Given the description of an element on the screen output the (x, y) to click on. 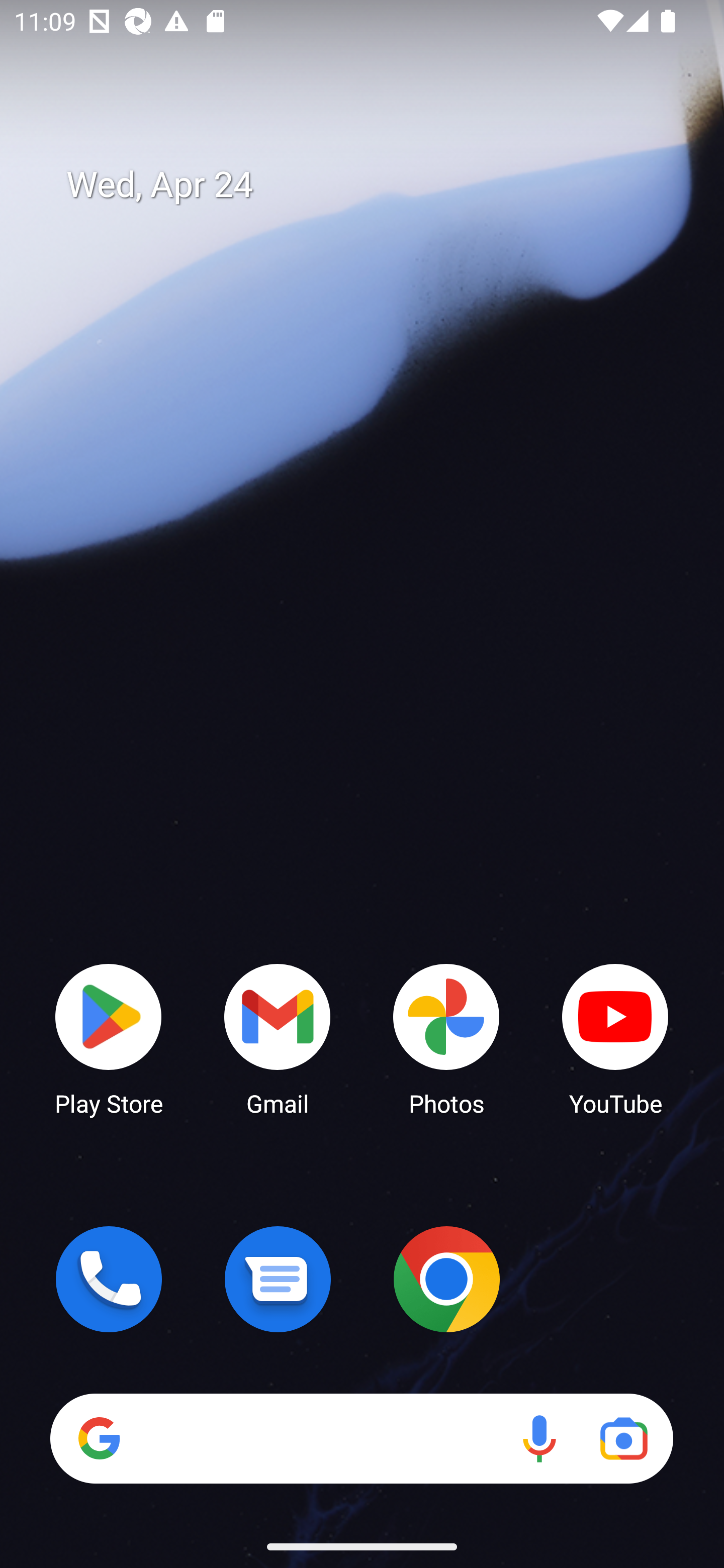
Wed, Apr 24 (375, 184)
Play Store (108, 1038)
Gmail (277, 1038)
Photos (445, 1038)
YouTube (615, 1038)
Phone (108, 1279)
Messages (277, 1279)
Chrome (446, 1279)
Search Voice search Google Lens (361, 1438)
Voice search (539, 1438)
Google Lens (623, 1438)
